Given the description of an element on the screen output the (x, y) to click on. 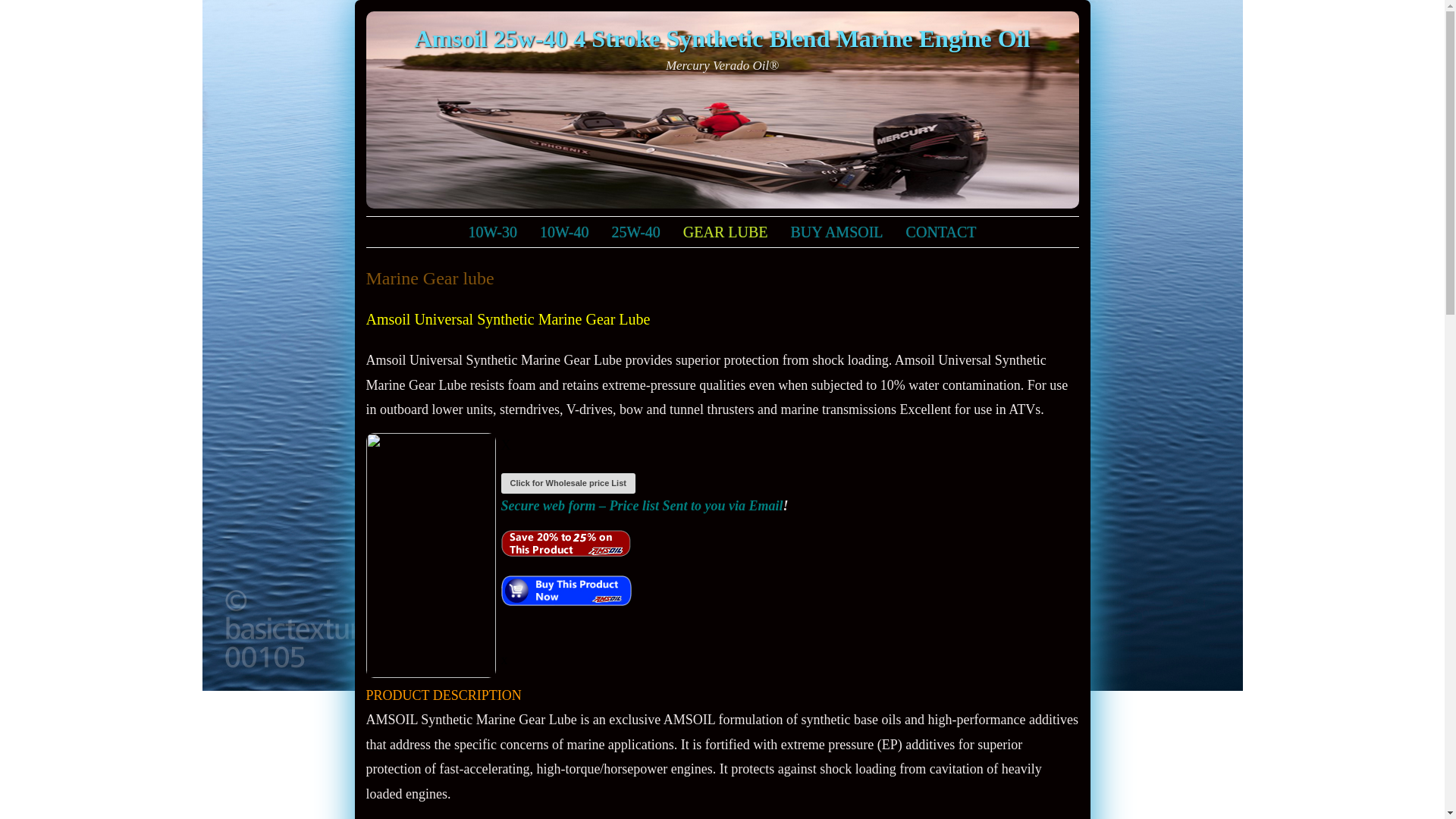
CONTACT Element type: text (941, 231)
25W-40 Element type: text (635, 231)
10W-40 Element type: text (563, 231)
GEAR LUBE Element type: text (725, 231)
Amsoil 25w-40 4 Stroke Synthetic Blend Marine Engine Oil Element type: text (721, 38)
BUY AMSOIL Element type: text (836, 231)
Click for Wholesale price List Element type: text (567, 483)
10W-30 Element type: text (492, 231)
